Given the description of an element on the screen output the (x, y) to click on. 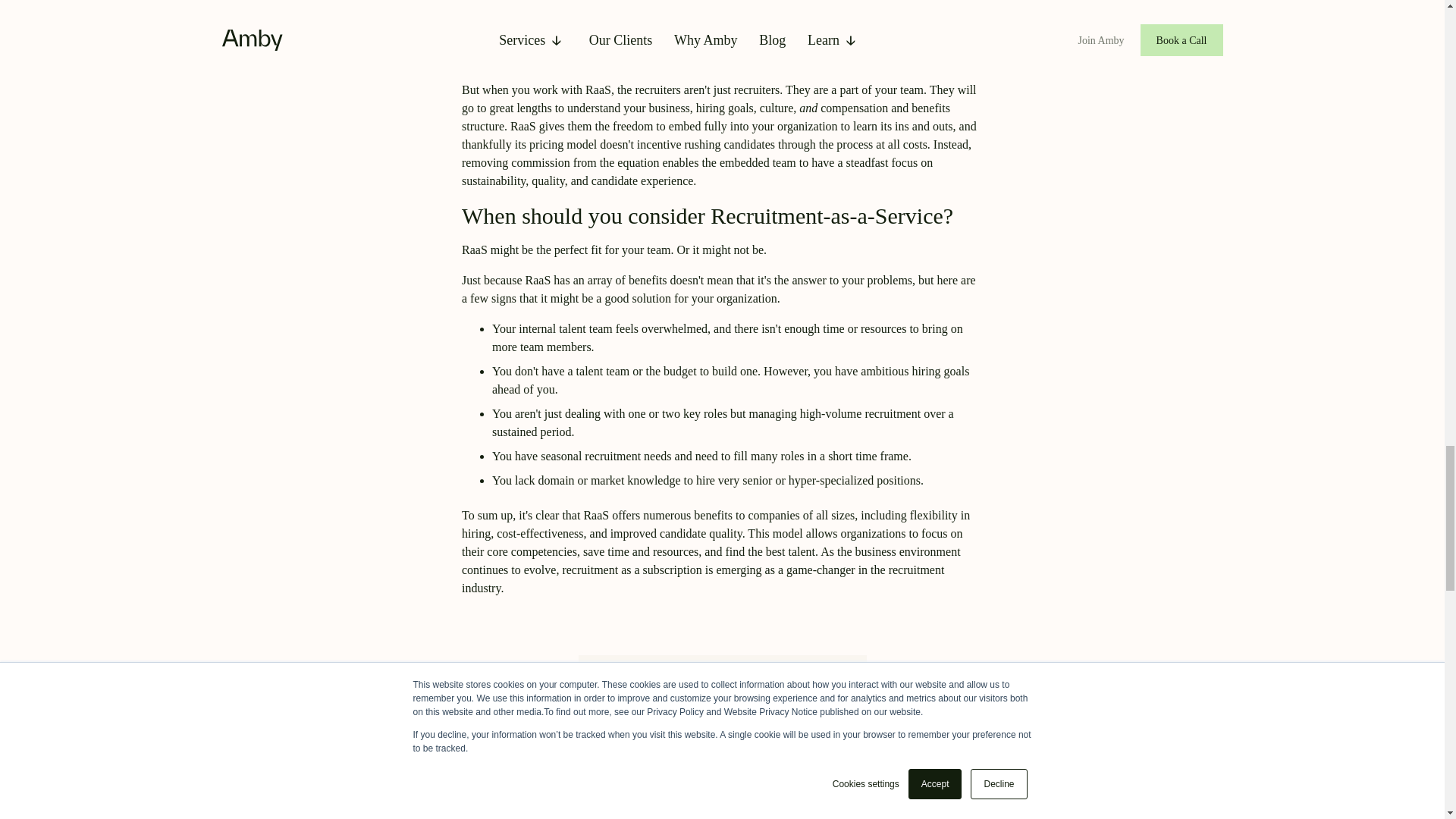
Meagan Leber (722, 754)
Meagan Leber (722, 812)
